Given the description of an element on the screen output the (x, y) to click on. 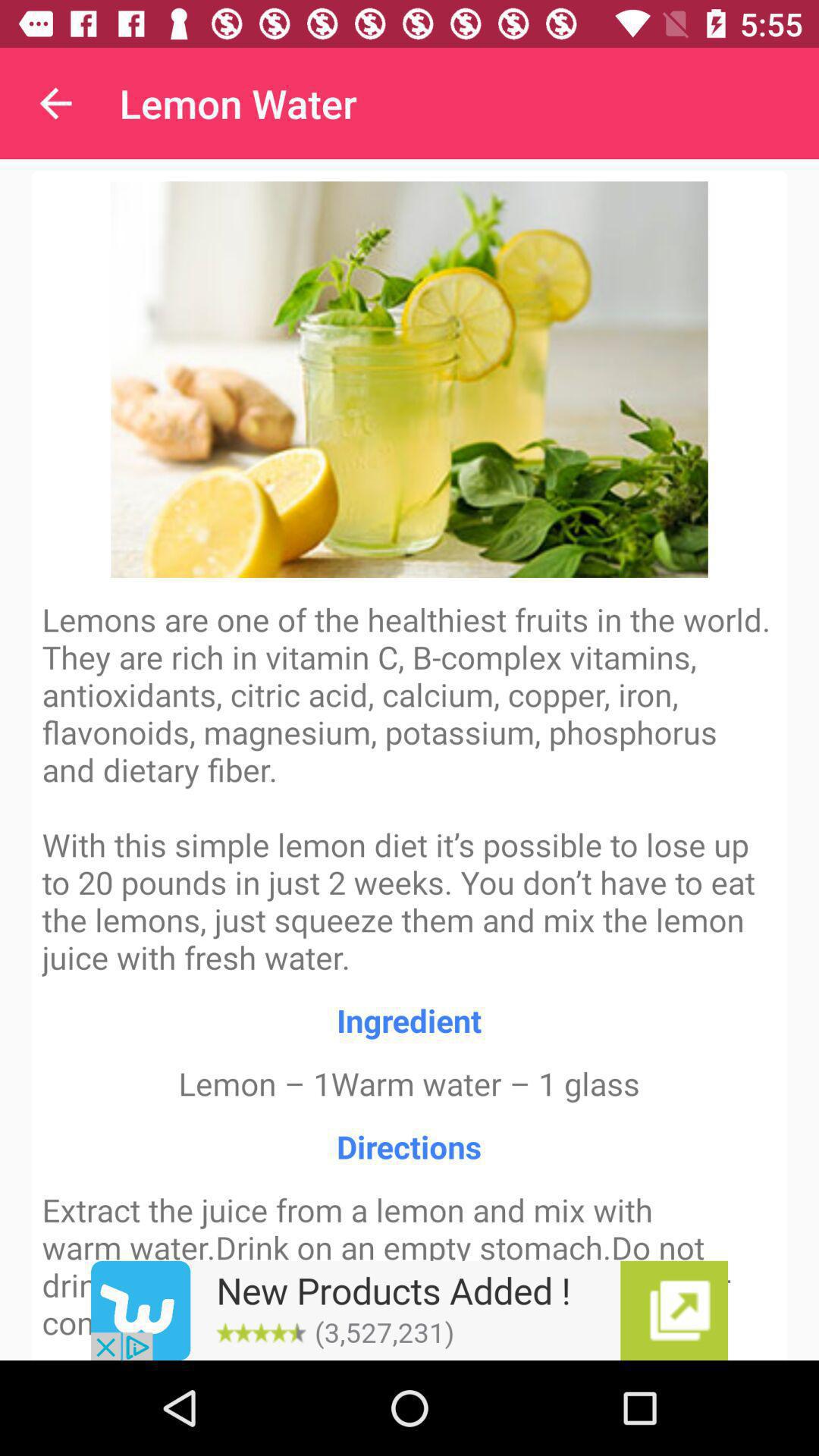
turn on the app next to the lemon water item (55, 103)
